Given the description of an element on the screen output the (x, y) to click on. 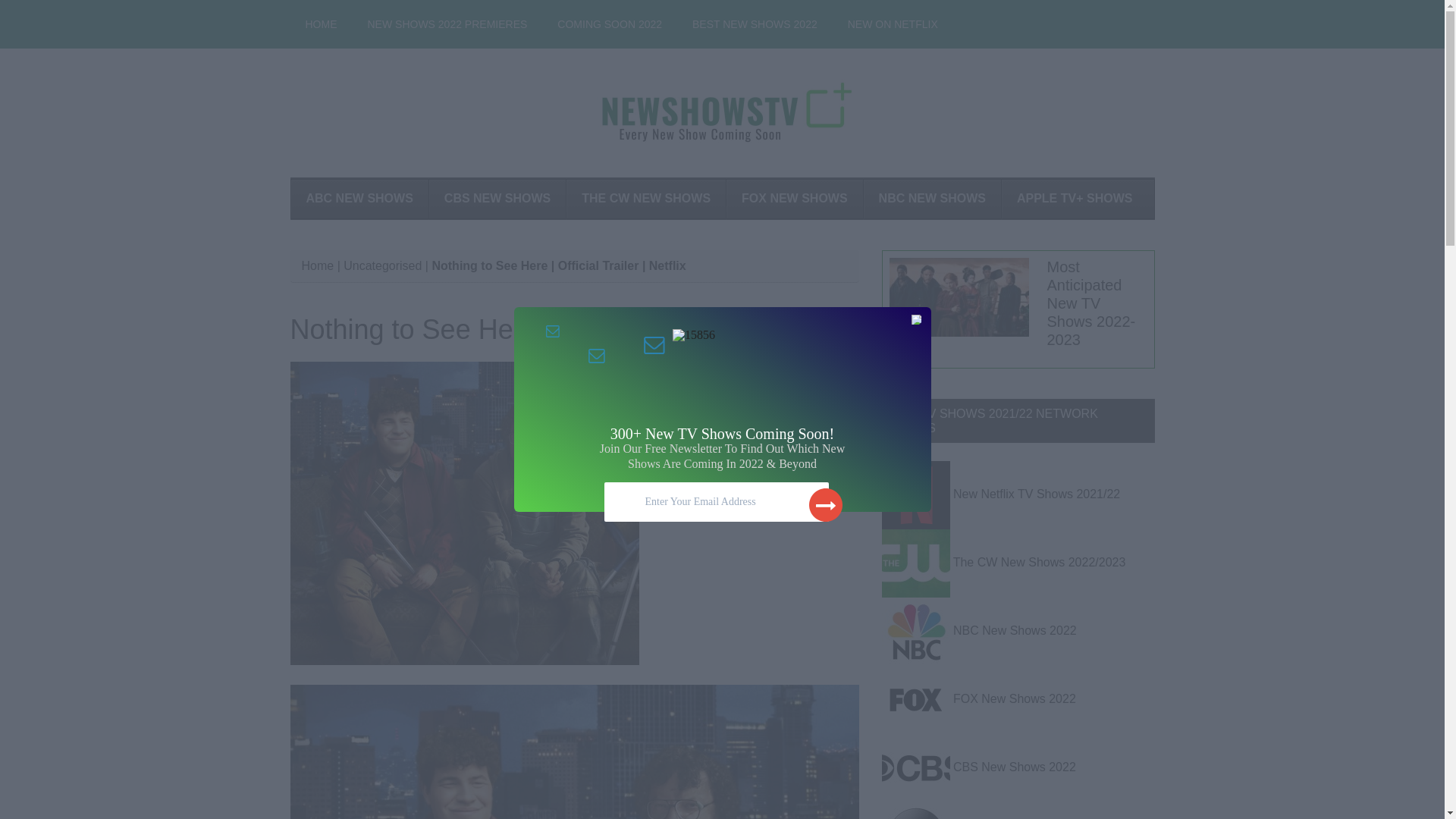
THE CW NEW SHOWS (645, 198)
FOX New Shows 2022 (1014, 698)
BEST NEW SHOWS 2022 (754, 24)
COMING SOON 2022 (609, 24)
Uncategorised (382, 265)
CBS New Shows 2022 (1014, 766)
NEW ON NETFLIX (892, 24)
Home (317, 265)
Most Anticipated New TV Shows 2022-2023 (1090, 303)
HOME (320, 24)
